Given the description of an element on the screen output the (x, y) to click on. 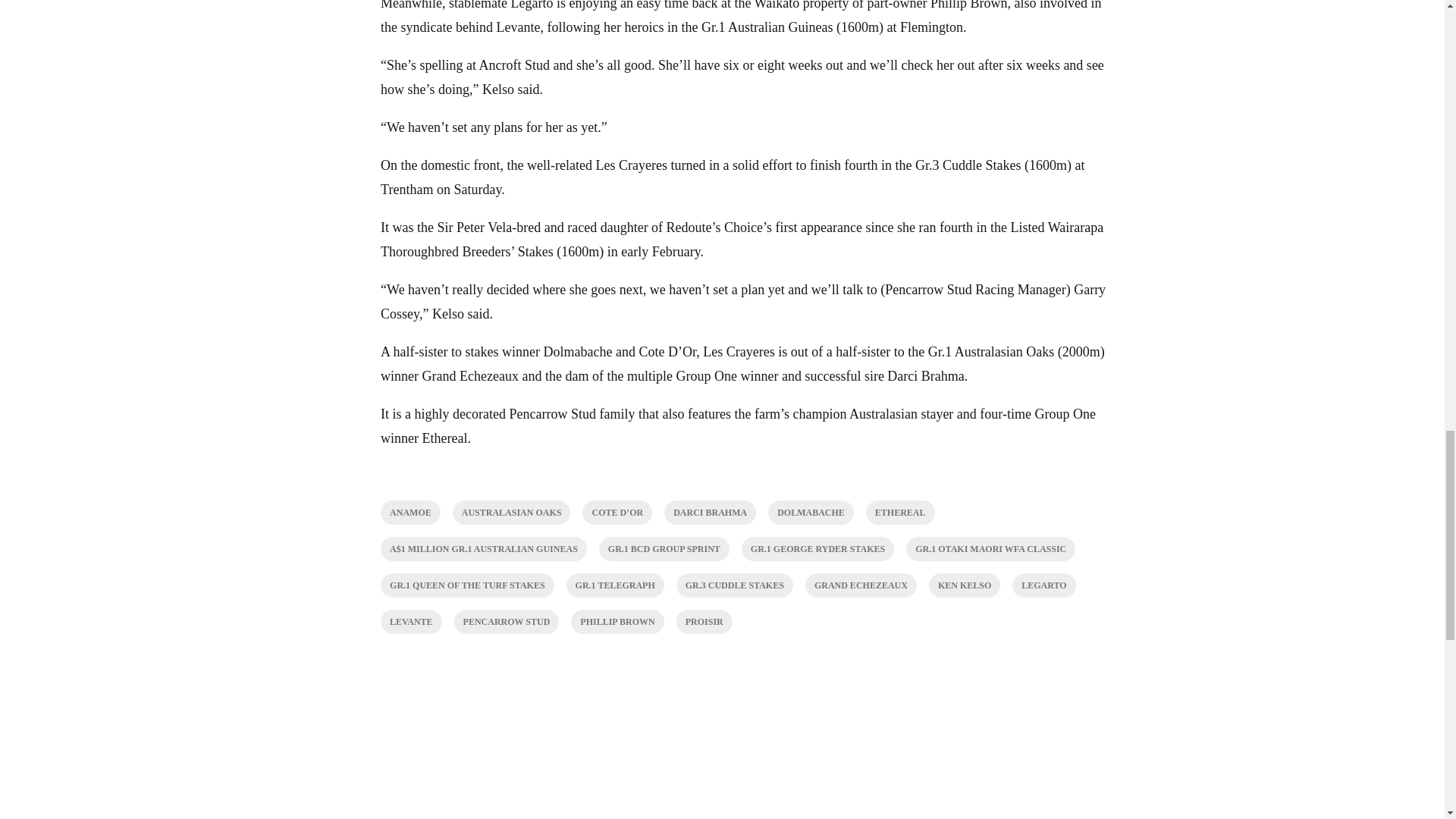
GRAND ECHEZEAUX (861, 585)
Copy Copy article link to clipboard (478, 686)
GR.1 GEORGE RYDER STAKES (817, 549)
DARCI BRAHMA (709, 512)
Facebook Link to share article on Facebook (388, 686)
LEGARTO (1043, 585)
ANAMOE (410, 512)
PROISIR (704, 621)
GR.1 BCD GROUP SPRINT (663, 549)
DOLMABACHE (810, 512)
ETHEREAL (900, 512)
GR.1 TELEGRAPH (614, 585)
AUSTRALASIAN OAKS (511, 512)
LinkedIn Link to share article on Twitter (449, 686)
LEVANTE (410, 621)
